Given the description of an element on the screen output the (x, y) to click on. 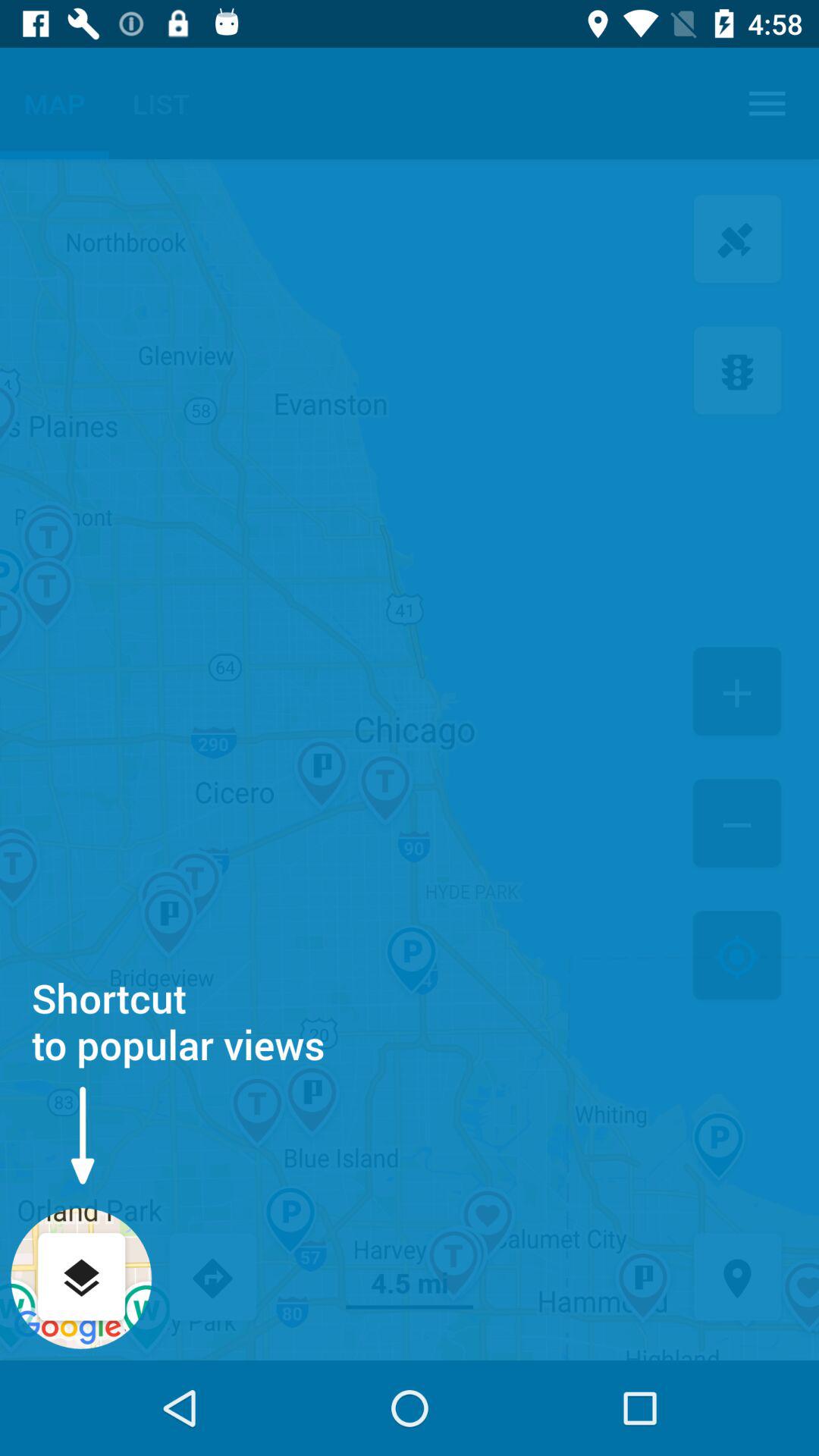
tap the item next to shortcut to popular item (737, 957)
